Given the description of an element on the screen output the (x, y) to click on. 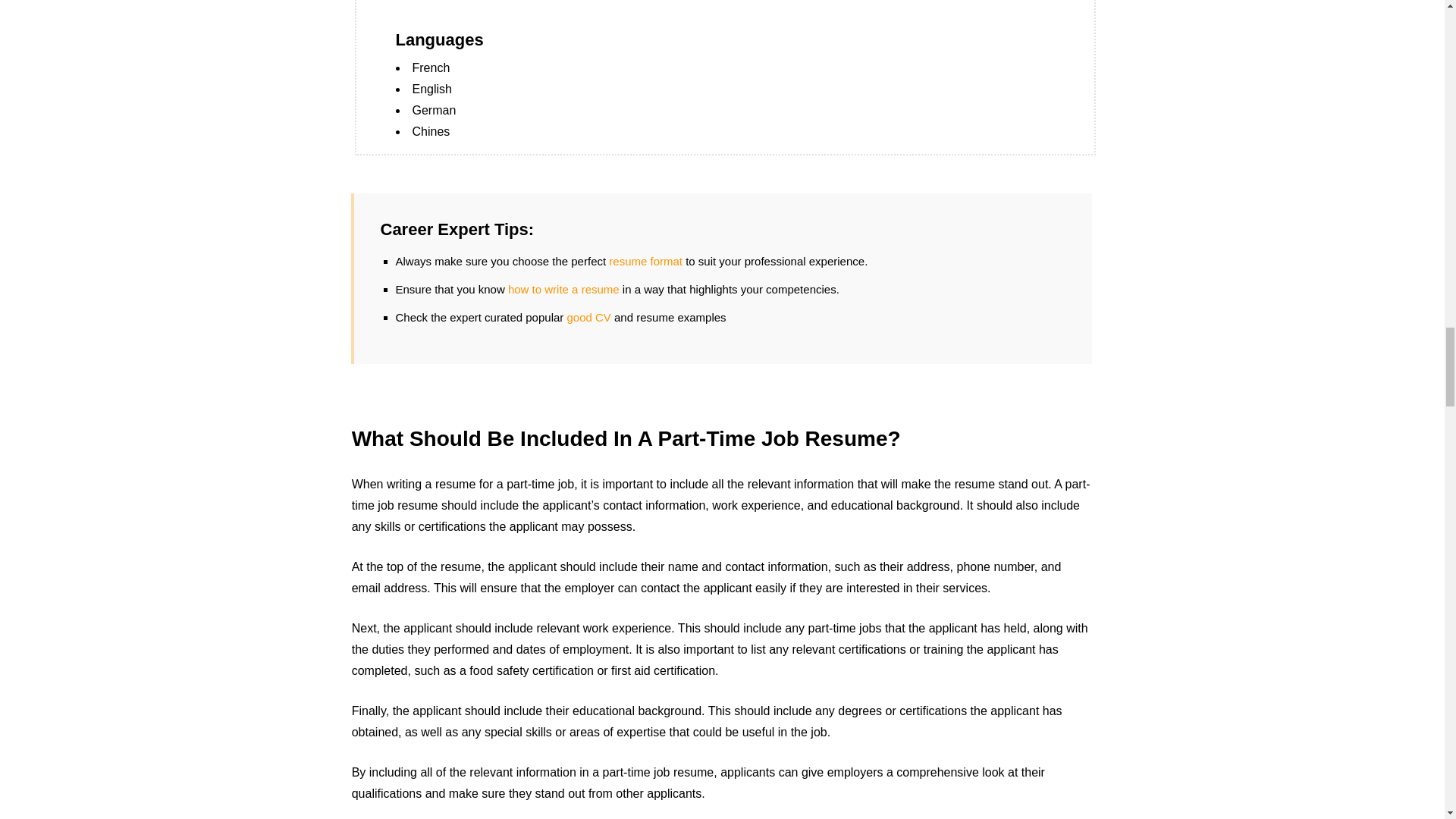
good cv (588, 317)
resume format (645, 260)
how to write a resume (564, 288)
